Given the description of an element on the screen output the (x, y) to click on. 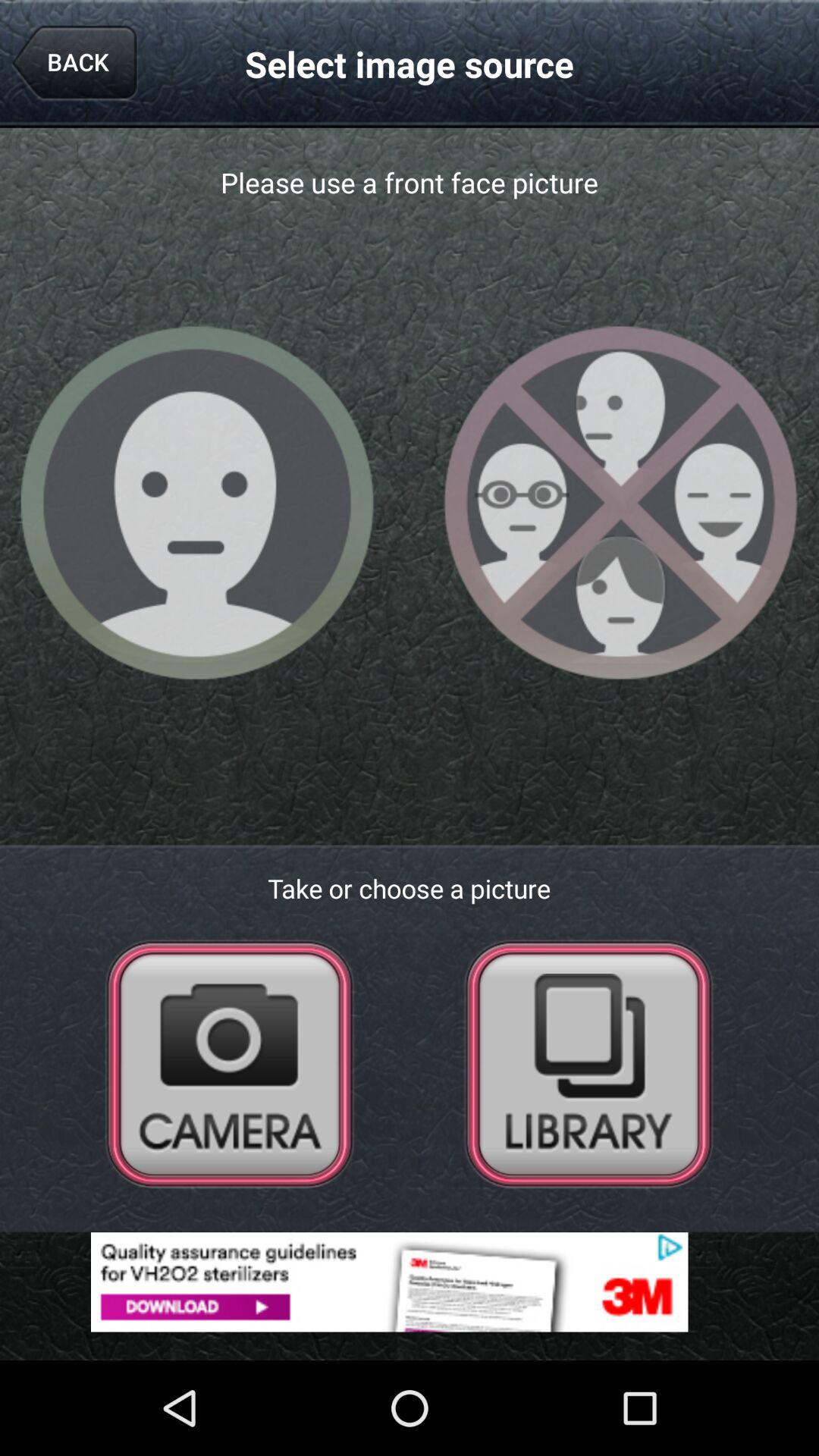
view advertisement (409, 1282)
